Given the description of an element on the screen output the (x, y) to click on. 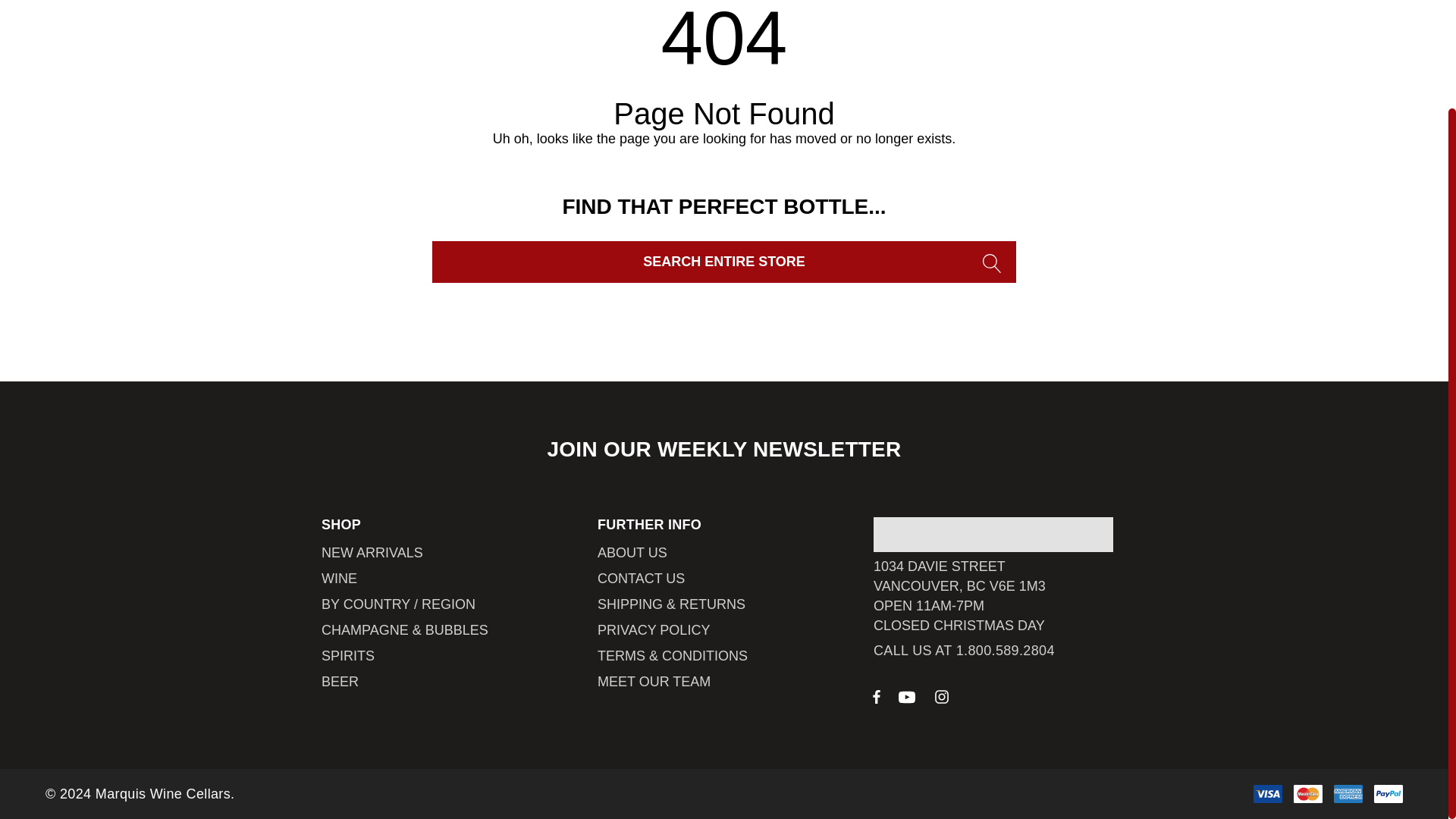
BEER (339, 681)
ABOUT US (631, 552)
NEW ARRIVALS (372, 552)
MEET OUR TEAM (653, 681)
WINE (338, 578)
CALL US AT 1.800.589.2804 (963, 650)
Paypal Paypal (1388, 793)
CONTACT US (640, 578)
youtube youtube (906, 697)
Amex Amex (1347, 793)
Mastercard Mastercard (1308, 793)
facebook facebook (876, 696)
SPIRITS (347, 655)
instagram instagram (941, 696)
Visa Visa (1267, 793)
